Given the description of an element on the screen output the (x, y) to click on. 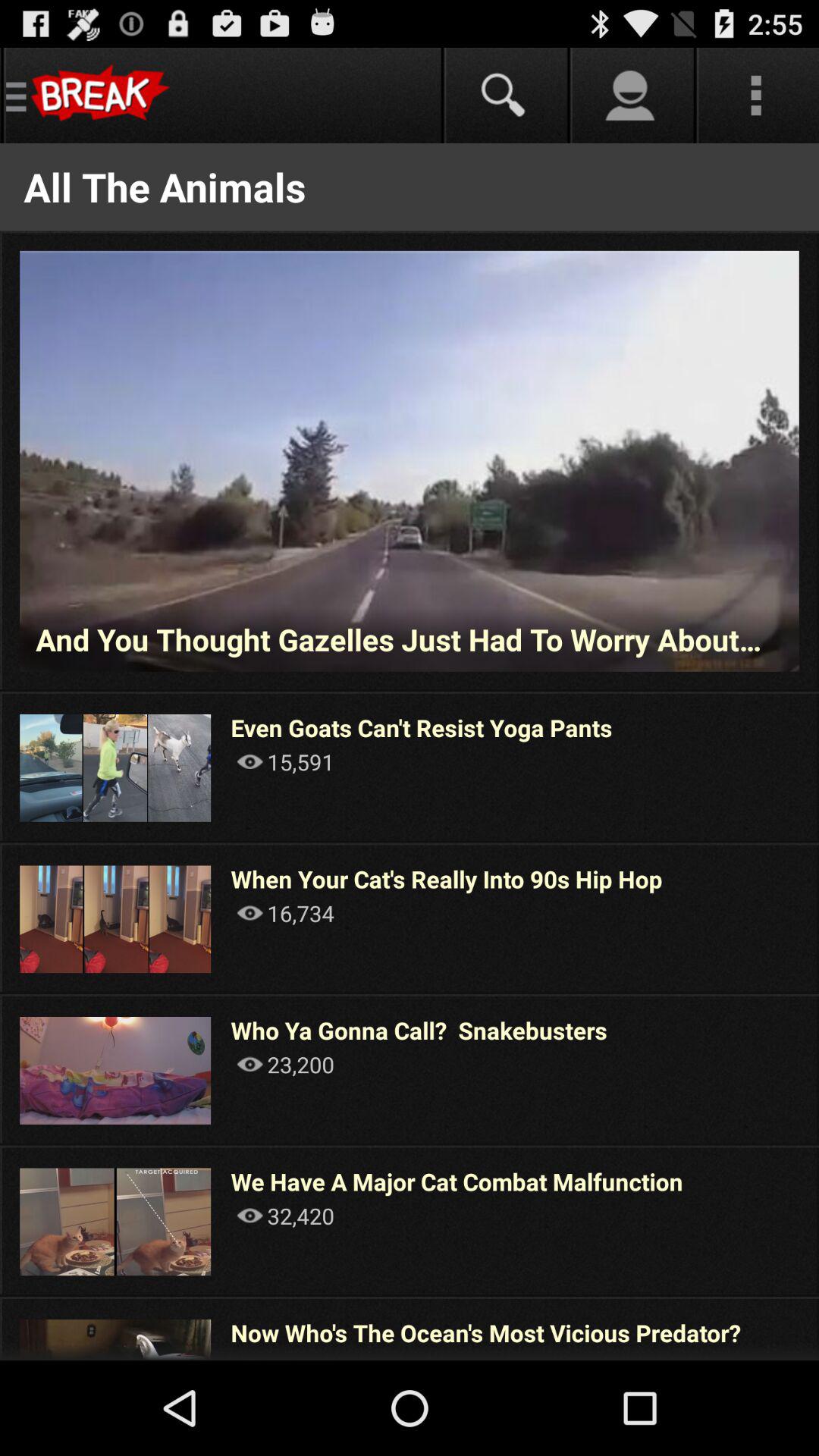
tap the 16,734 icon (285, 913)
